Given the description of an element on the screen output the (x, y) to click on. 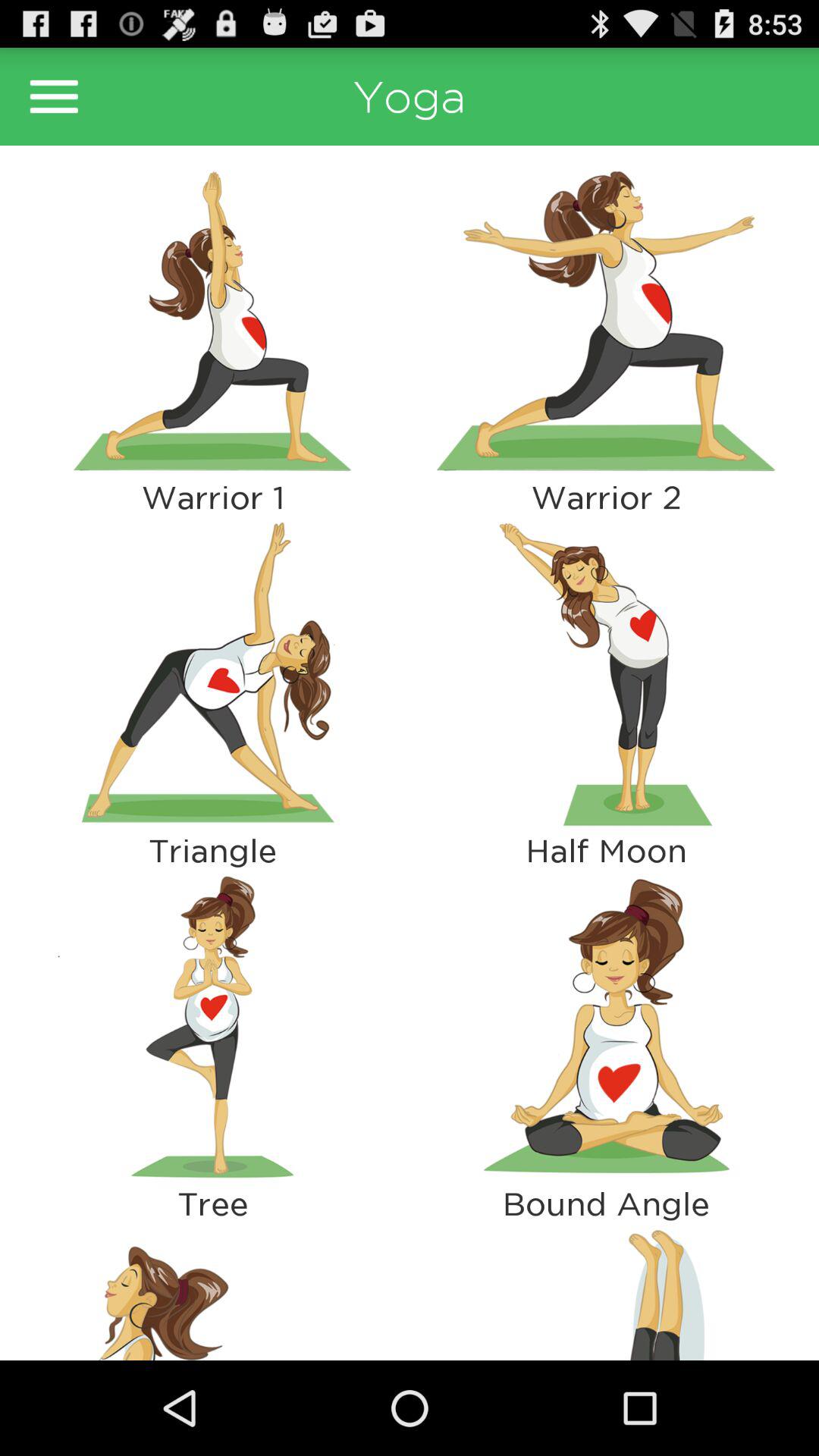
show more info about that pose (212, 1026)
